Given the description of an element on the screen output the (x, y) to click on. 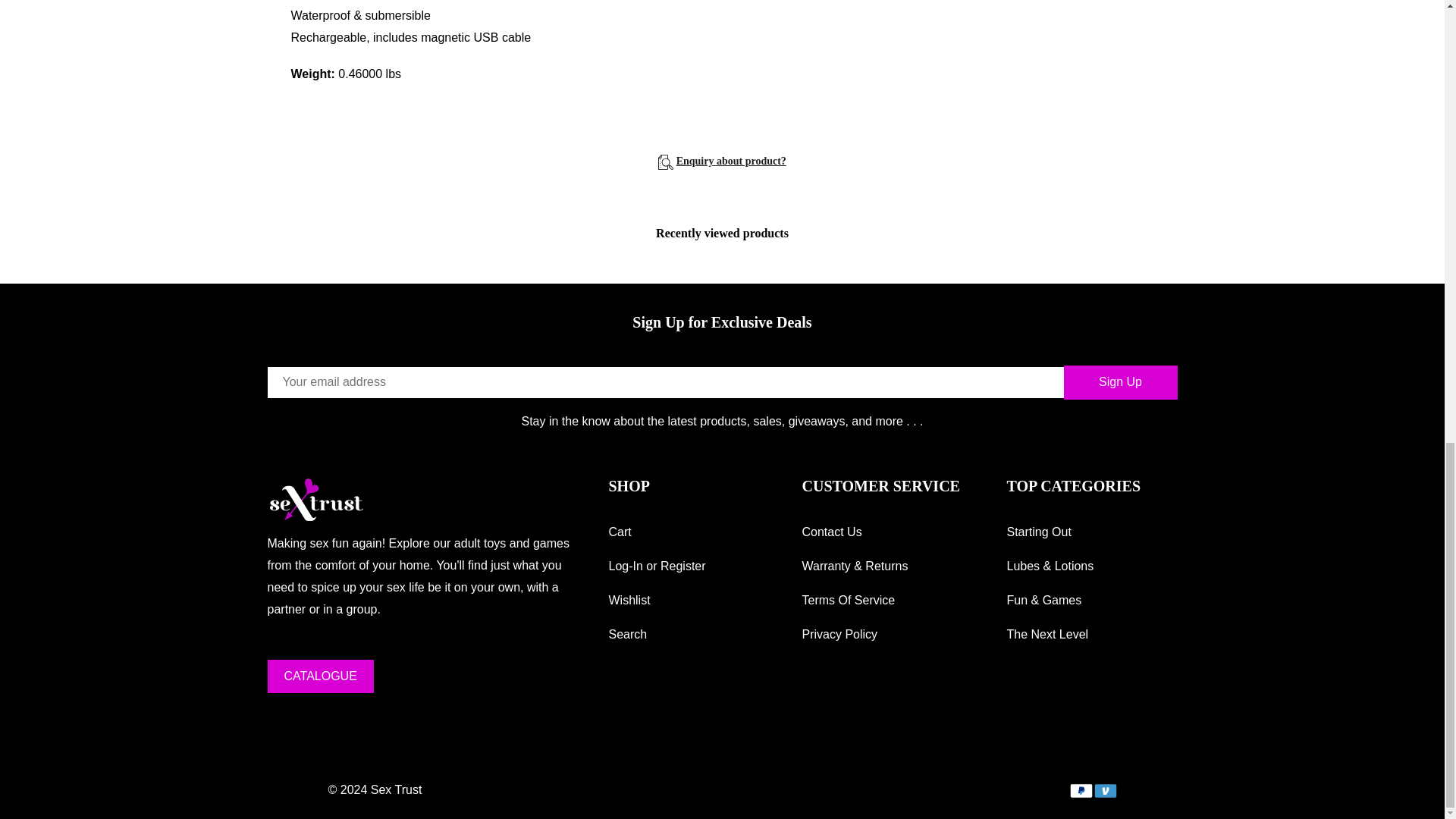
Venmo (1104, 790)
PayPal (1080, 790)
